Given the description of an element on the screen output the (x, y) to click on. 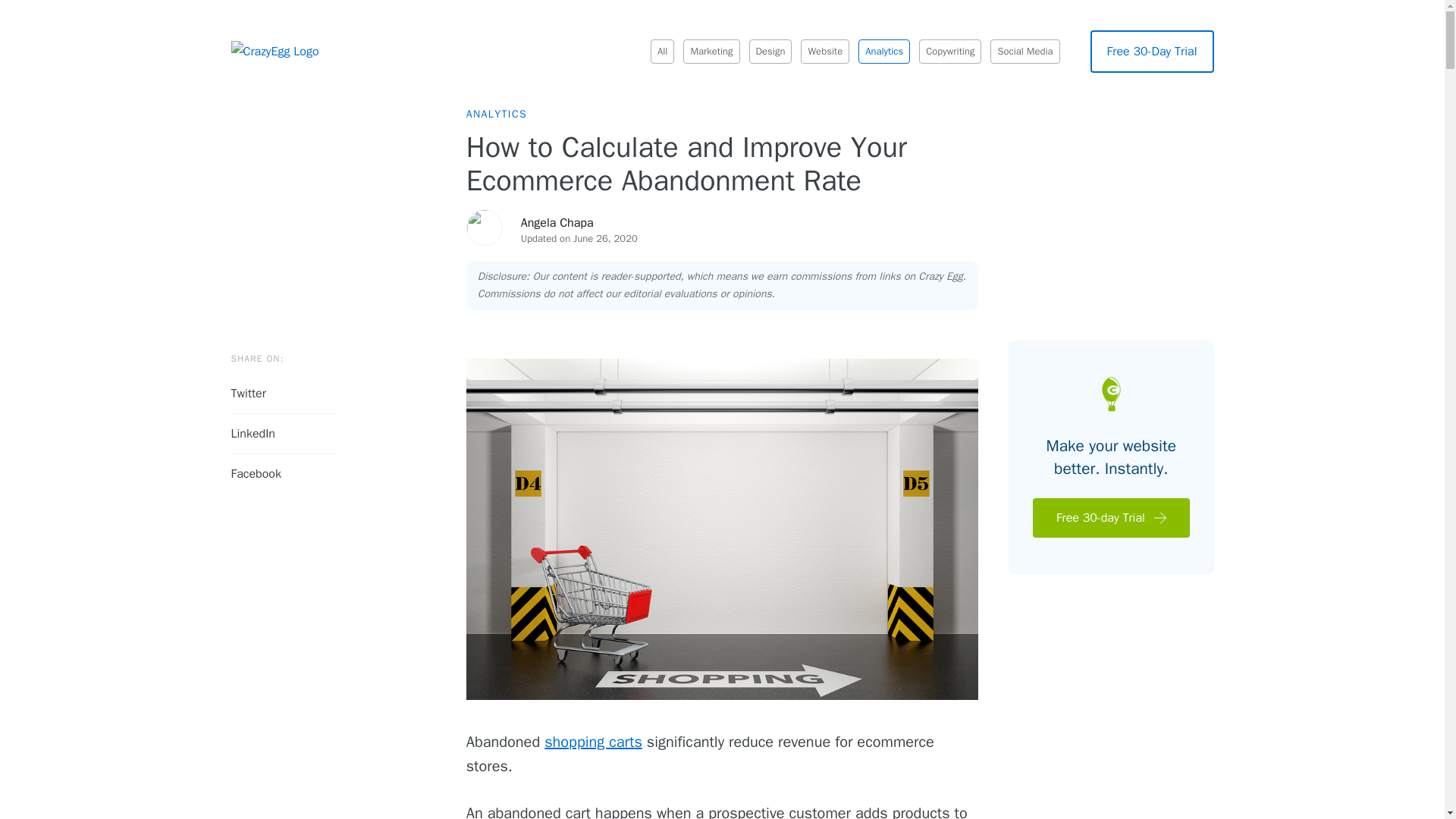
All (662, 51)
Website (824, 51)
ANALYTICS (496, 113)
Social Media (1024, 51)
Marketing (710, 51)
shopping carts (593, 741)
Twitter (283, 393)
Free 30-Day Trial (1152, 51)
Free 30-day Trial (1110, 517)
Copywriting (949, 51)
